Given the description of an element on the screen output the (x, y) to click on. 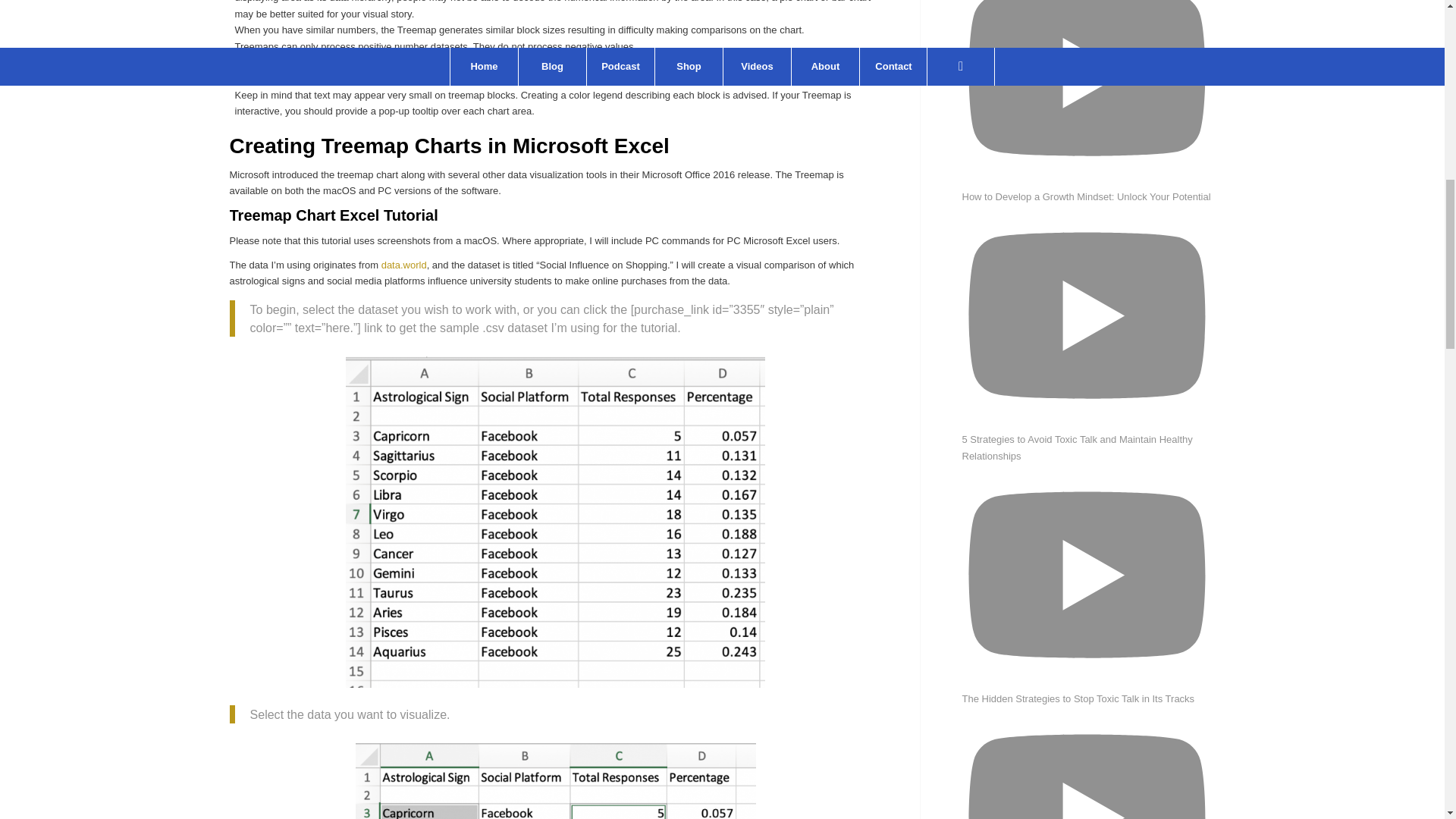
The Hidden Strategies to Stop Toxic Talk in Its Tracks (1085, 755)
How to Ask for Help at Work, Home, And Socially (1085, 94)
How to Develop a Growth Mindset: Unlock Your Potential (1085, 310)
data.world (403, 265)
